Given the description of an element on the screen output the (x, y) to click on. 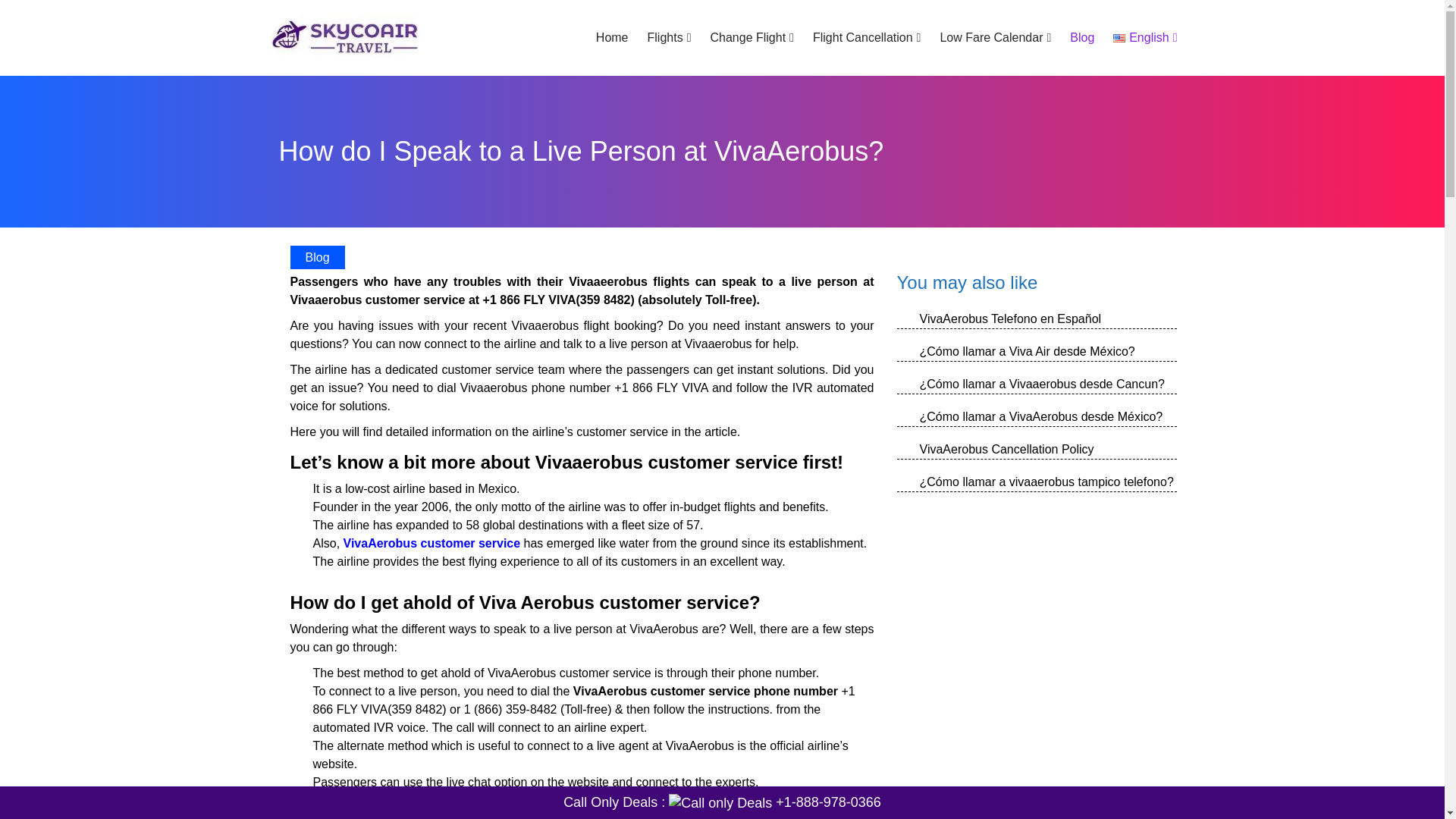
Flight Cancellation (866, 38)
Change Flight (751, 38)
Low Fare Calendar (995, 38)
